Given the description of an element on the screen output the (x, y) to click on. 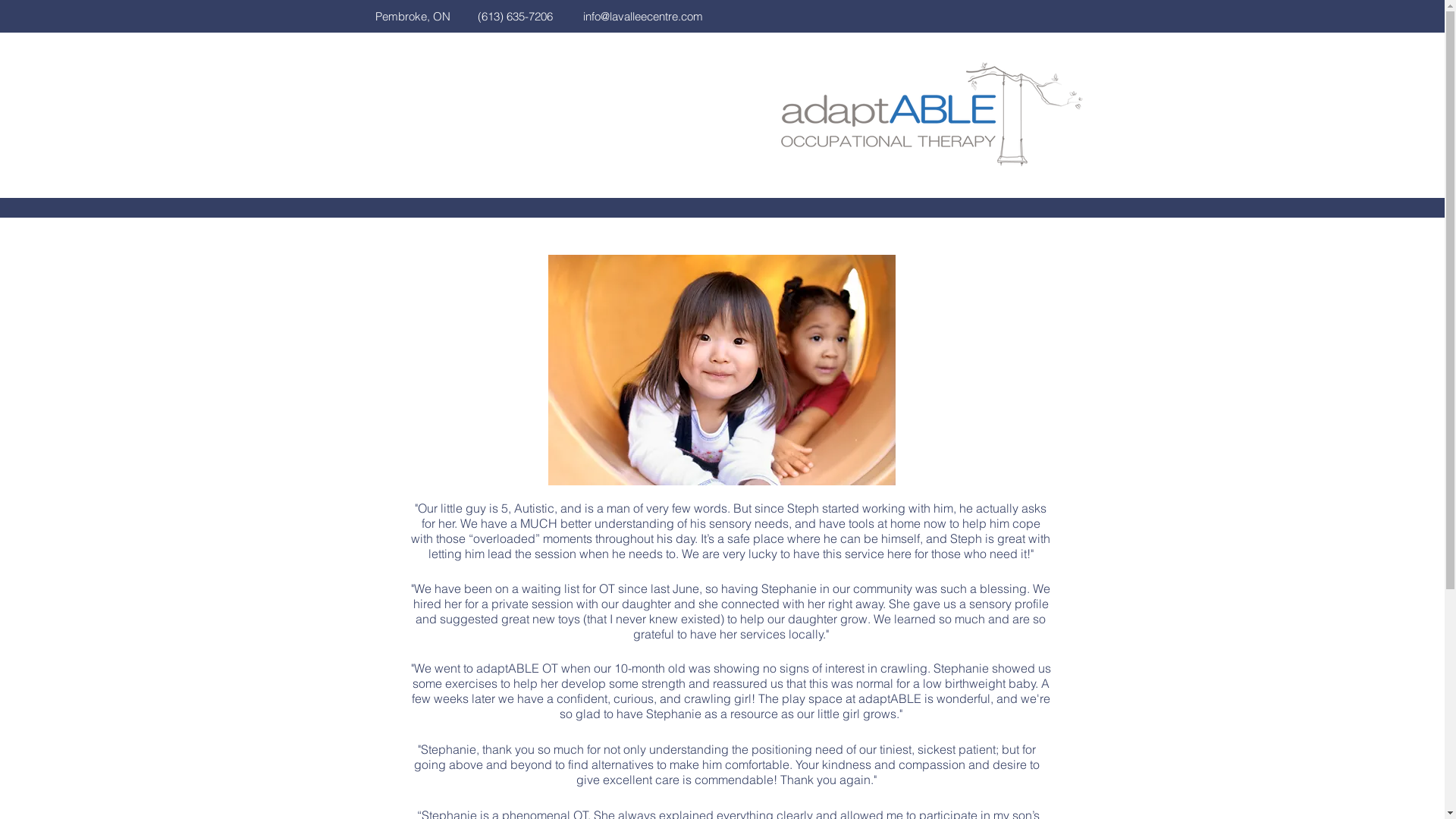
(613) 635-7206 Element type: text (514, 16)
info@lavalleecentre.com Element type: text (642, 16)
